Given the description of an element on the screen output the (x, y) to click on. 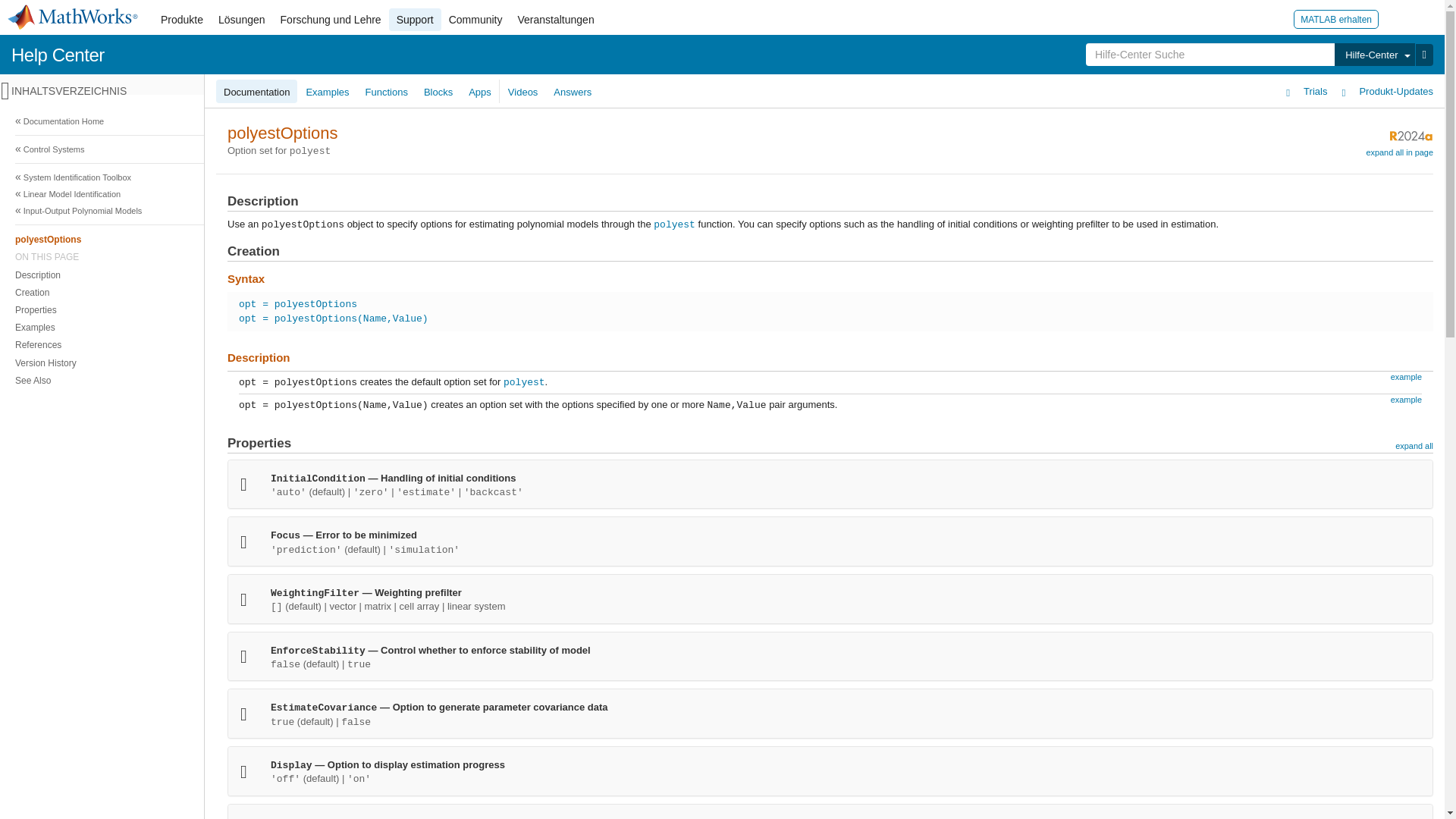
Help Center (57, 54)
polyestOptions (720, 239)
Hilfe-Center (1374, 54)
Veranstaltungen (555, 19)
Produkte (181, 19)
Input-Output Polynomial Models (720, 210)
Description (718, 274)
Creation (718, 292)
Linear Model Identification (720, 193)
System Identification Toolbox (720, 176)
Forschung und Lehre (330, 19)
MATLAB erhalten (1336, 18)
Community (476, 19)
Control Systems (720, 149)
